Given the description of an element on the screen output the (x, y) to click on. 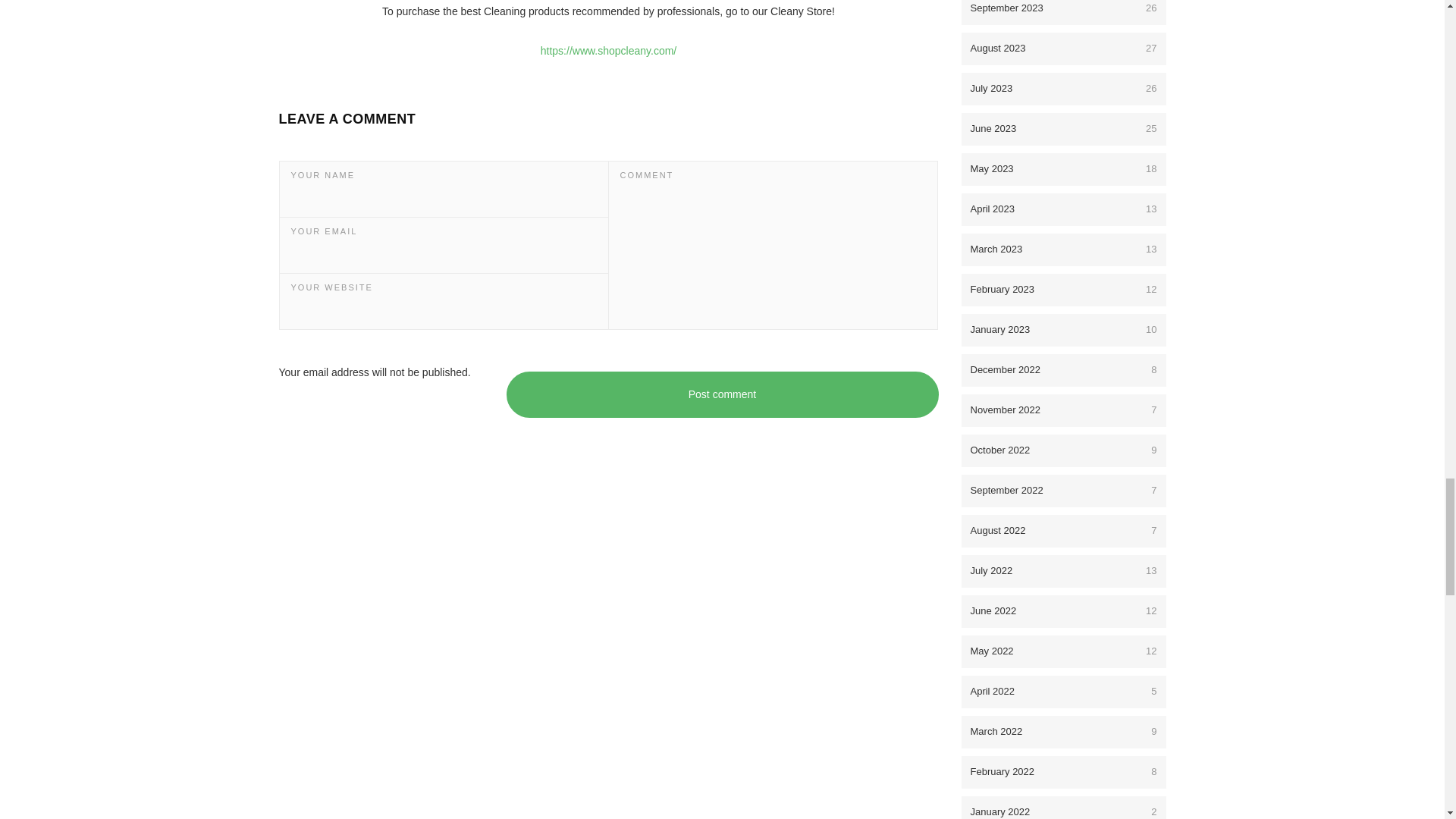
Post comment (722, 394)
